Given the description of an element on the screen output the (x, y) to click on. 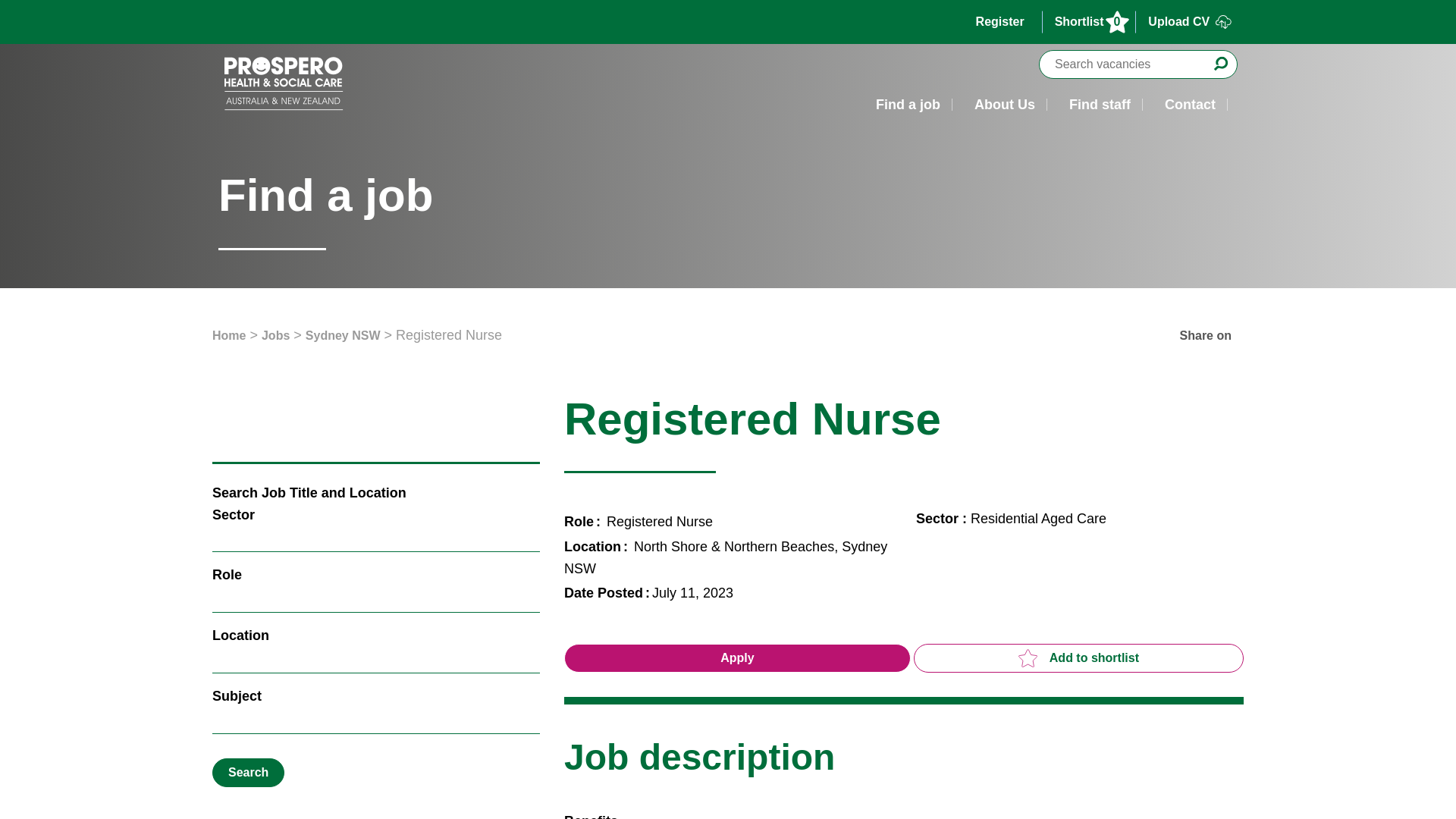
Find staff (1099, 104)
Sydney NSW (342, 335)
Upload CV (1189, 22)
Contact (1190, 104)
About Us (1004, 104)
About Us (1004, 104)
Find staff (1099, 104)
shortlist star (1027, 658)
Register (1002, 22)
Search (247, 772)
